Given the description of an element on the screen output the (x, y) to click on. 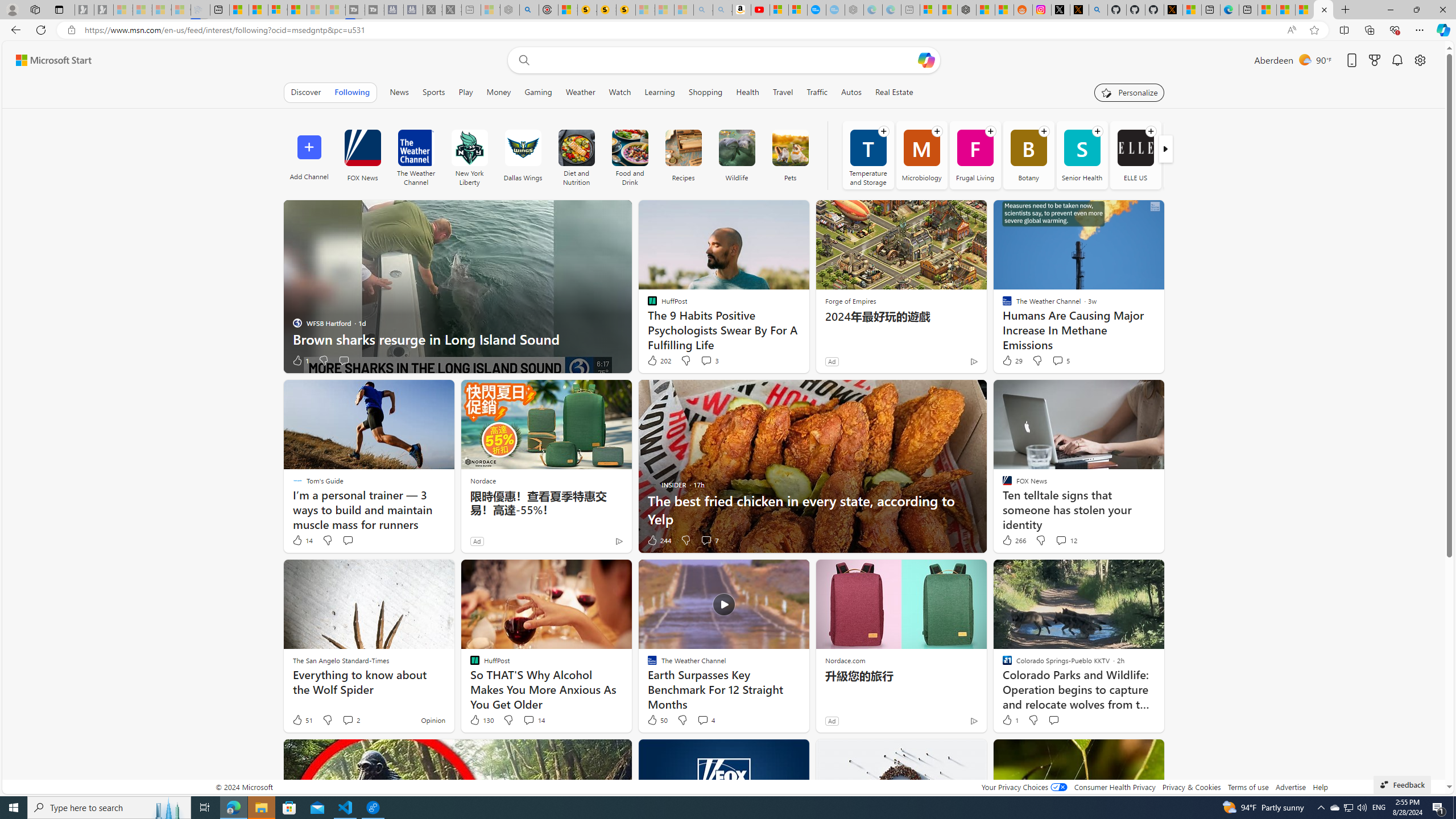
Gaming (537, 92)
Microsoft Start - Sleeping (315, 9)
266 Like (1012, 539)
Skip to footer (46, 59)
Address and search bar (680, 29)
View comments 12 Comment (1065, 539)
Frugal Living (975, 155)
Money (498, 92)
Diet and Nutrition (576, 147)
Microsoft account | Microsoft Account Privacy Settings (929, 9)
Play (465, 92)
Start the conversation (1053, 719)
